Given the description of an element on the screen output the (x, y) to click on. 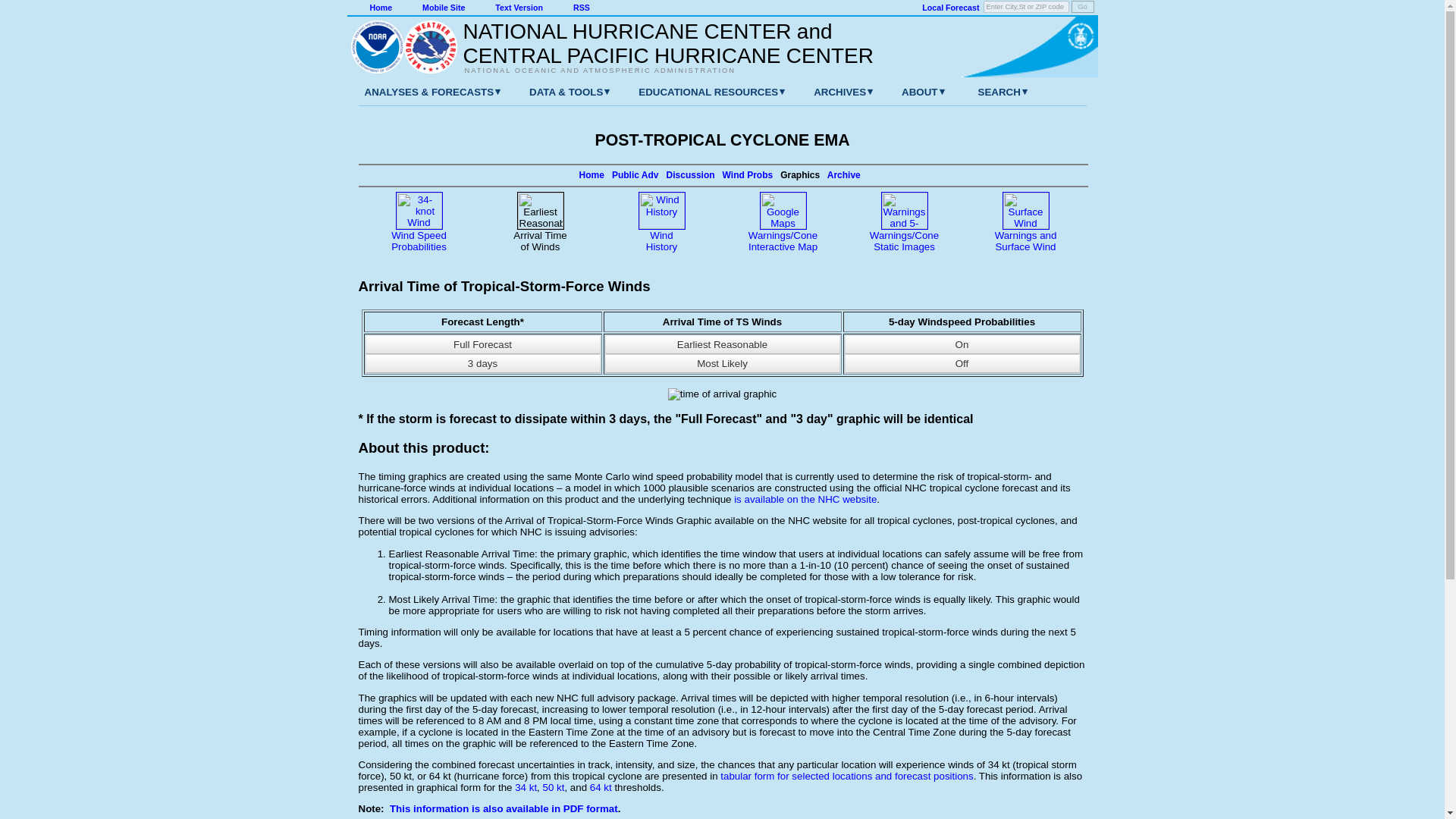
Mobile Site (443, 7)
NATIONAL OCEANIC AND ATMOSPHERIC ADMINISTRATION (659, 70)
Go (1081, 6)
Local Forecast (949, 7)
EDUCATIONAL RESOURCES (696, 91)
Go (1081, 6)
RSS (581, 7)
Text Version (519, 7)
Home (381, 7)
Enter City,St or ZIP code (1026, 6)
